Given the description of an element on the screen output the (x, y) to click on. 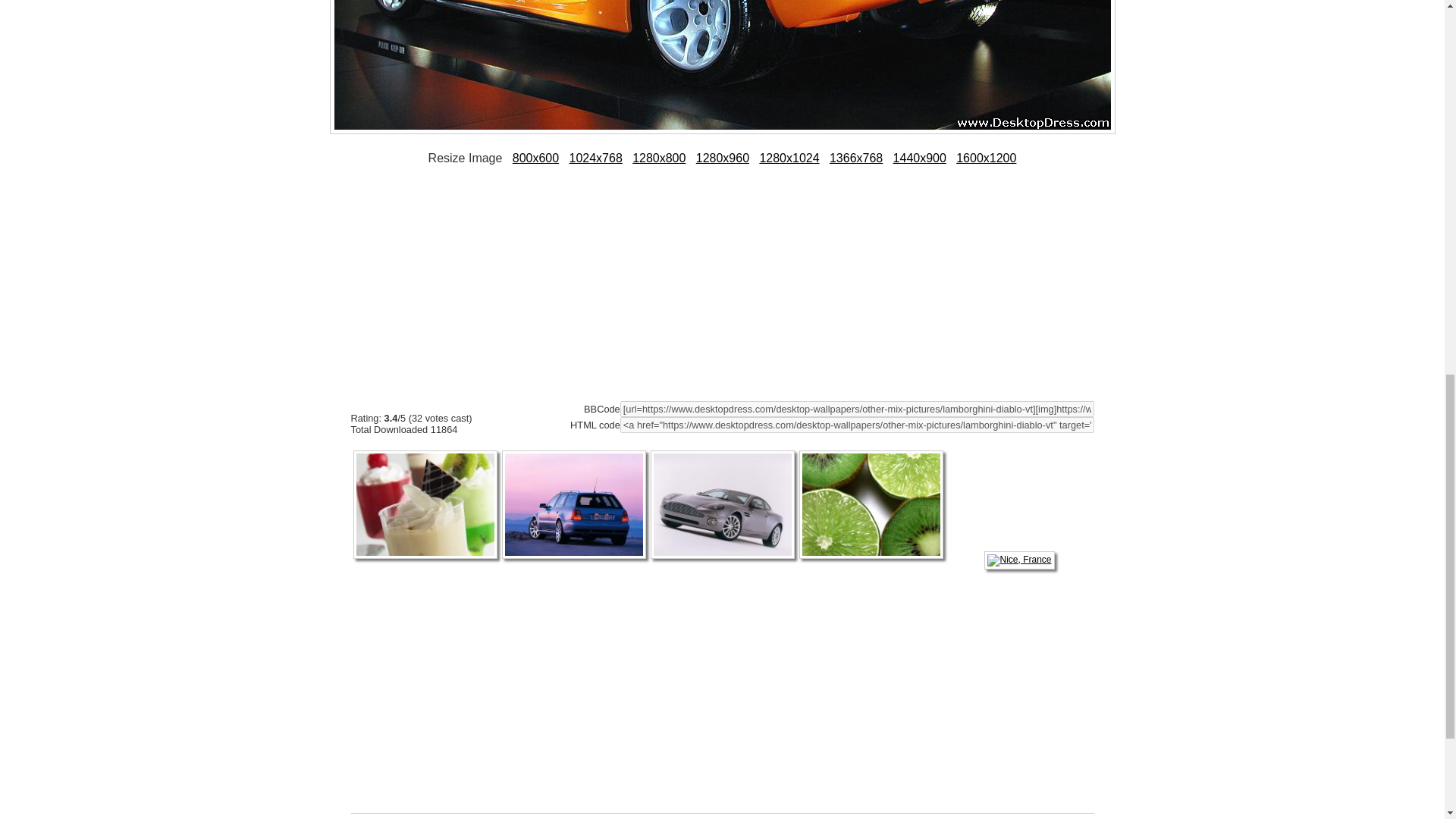
5 out of 5 (452, 400)
Download 1600 x 1200 (986, 157)
1600x1200 (986, 157)
1280x800 (658, 157)
2 out of 5 (384, 400)
800x600 (535, 157)
Kiwi Limes (871, 559)
Audi Rs4 (574, 559)
Download 1280 x 800 (658, 157)
1 out of 5 (361, 400)
1366x768 (855, 157)
Download 800 x 600 (535, 157)
1280x1024 (788, 157)
Download 1280 x 1024 (788, 157)
Nice, France (1019, 559)
